Given the description of an element on the screen output the (x, y) to click on. 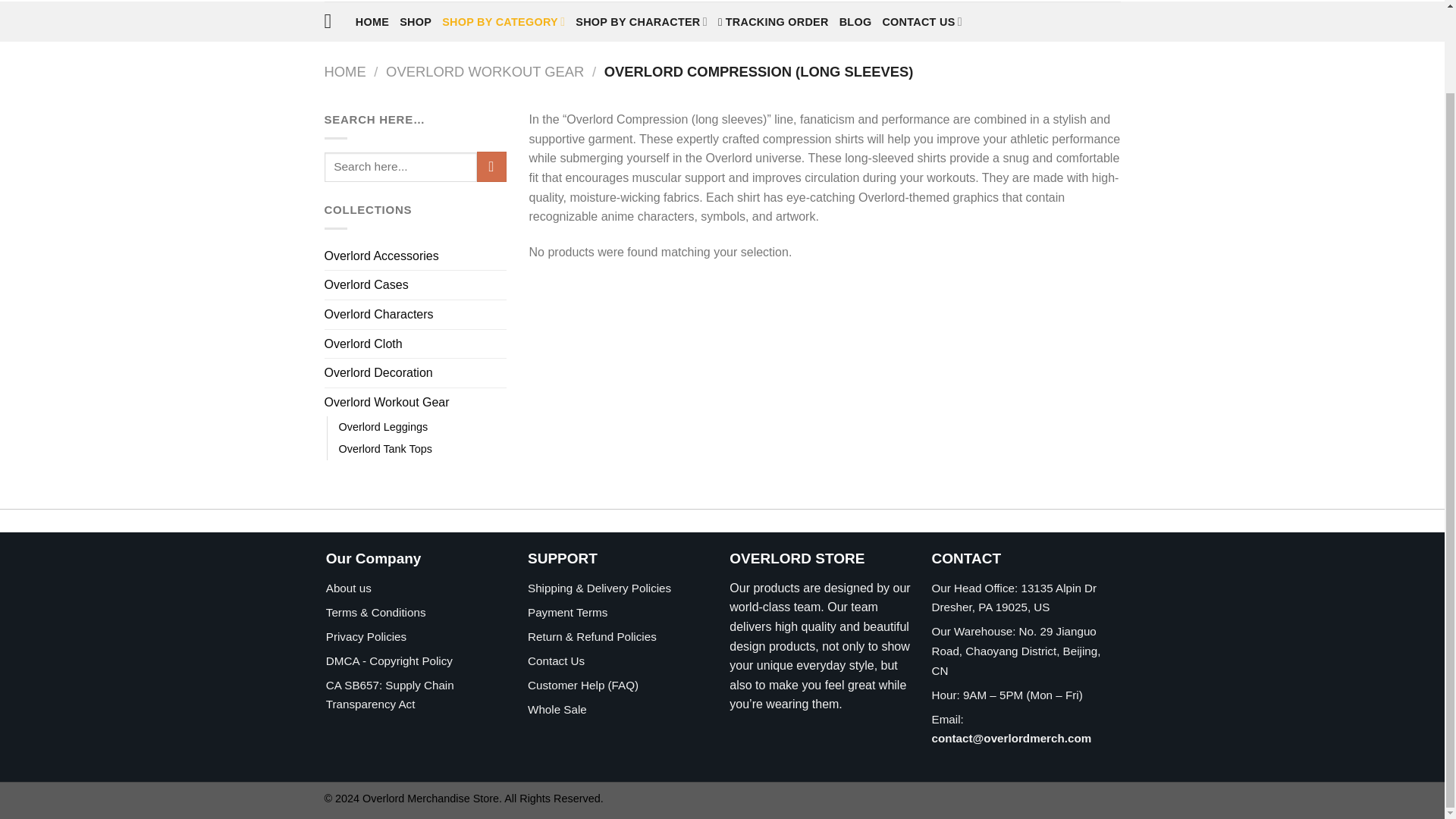
SHOP (414, 22)
SHOP BY CATEGORY (503, 21)
HOME (371, 22)
